Given the description of an element on the screen output the (x, y) to click on. 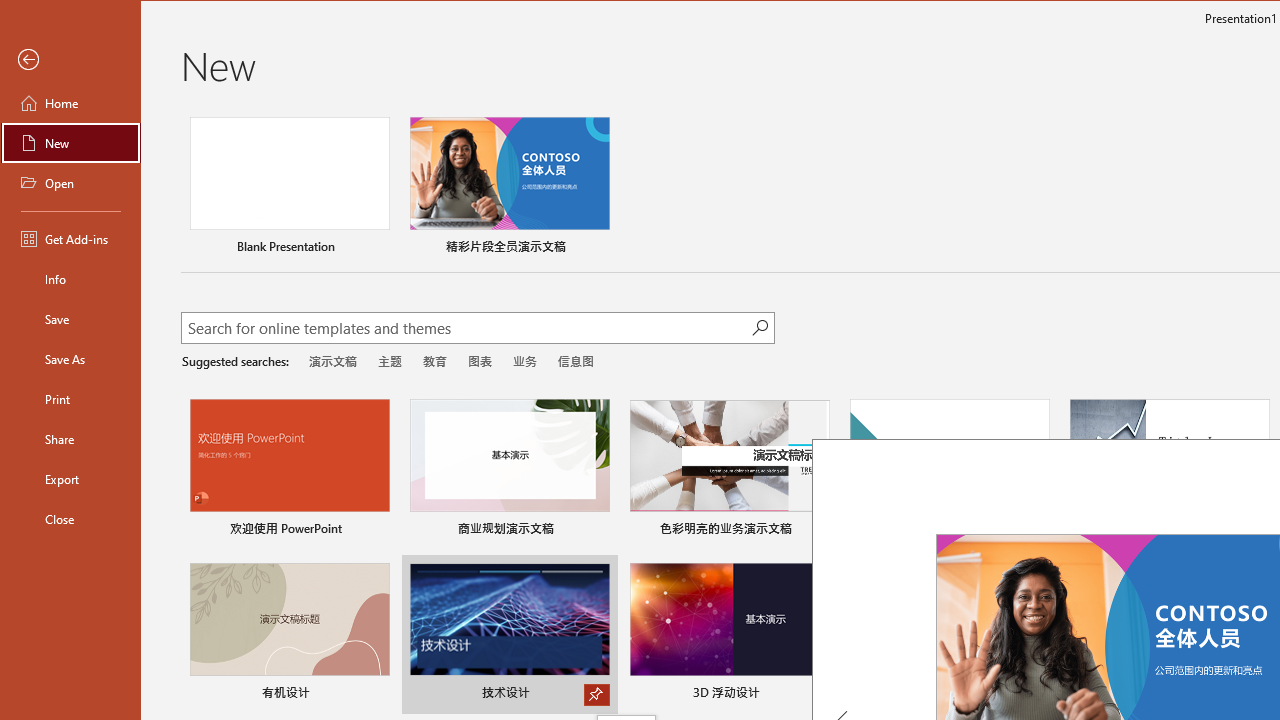
Search for online templates and themes (467, 330)
Info (70, 278)
Save As (70, 358)
New (70, 142)
Export (70, 478)
Get Add-ins (70, 238)
Blank Presentation (289, 187)
